Given the description of an element on the screen output the (x, y) to click on. 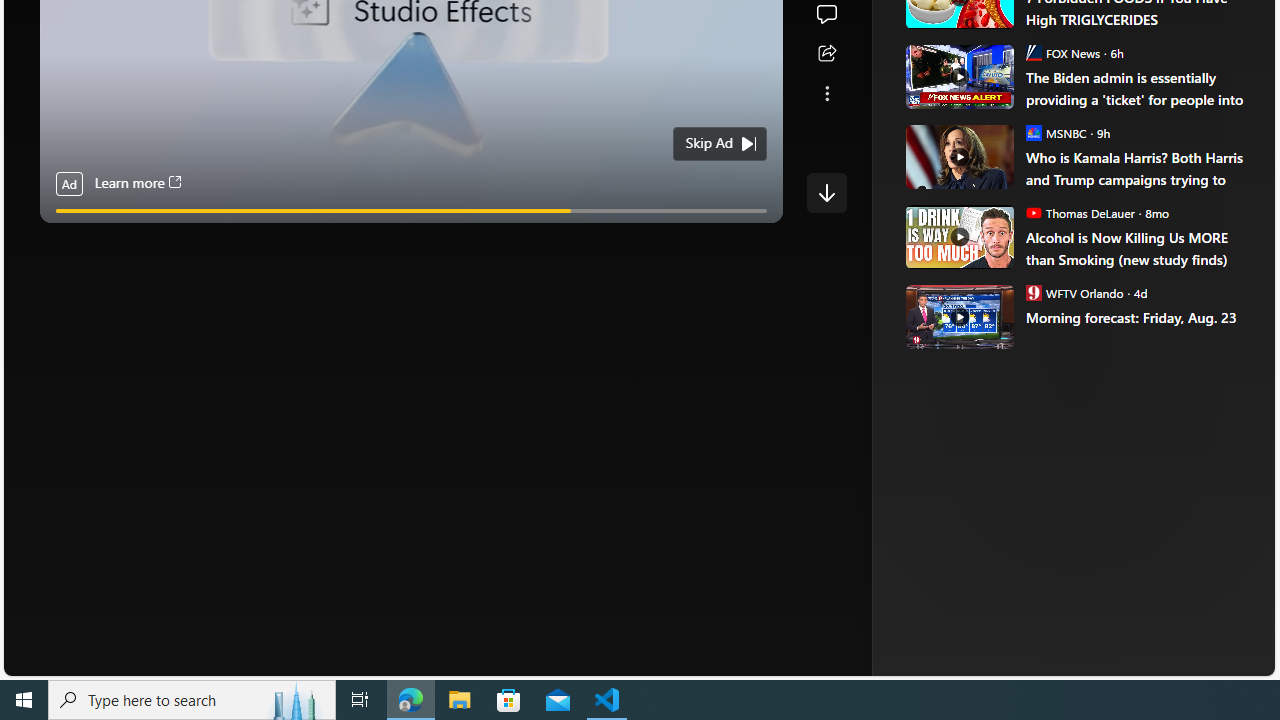
Summer Sale! Up to -55% (1084, 186)
Share this story (826, 53)
Thomas DeLauer (1033, 212)
